Given the description of an element on the screen output the (x, y) to click on. 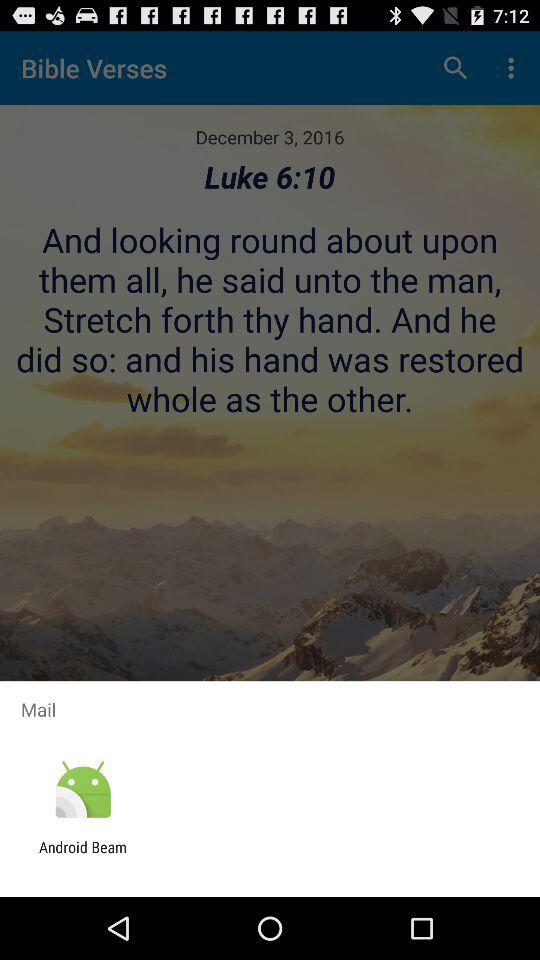
tap the icon above android beam icon (82, 789)
